Given the description of an element on the screen output the (x, y) to click on. 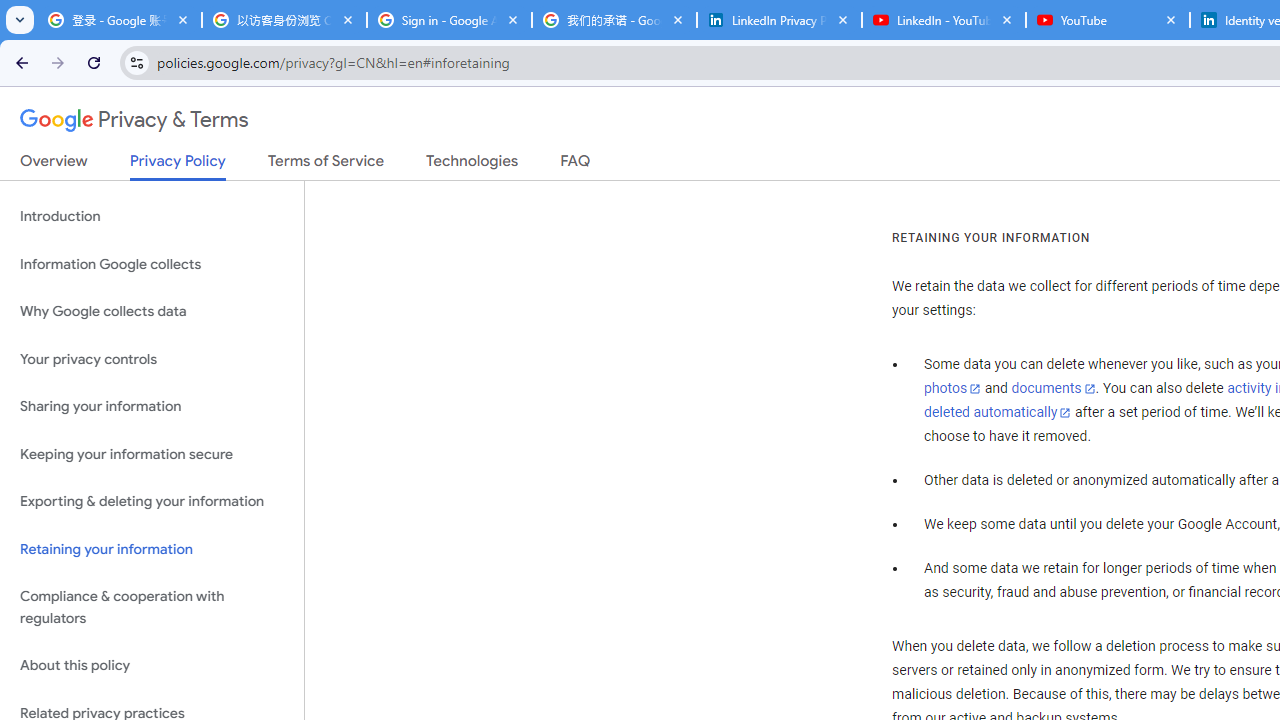
YouTube (1108, 20)
Keeping your information secure (152, 453)
Introduction (152, 216)
